Given the description of an element on the screen output the (x, y) to click on. 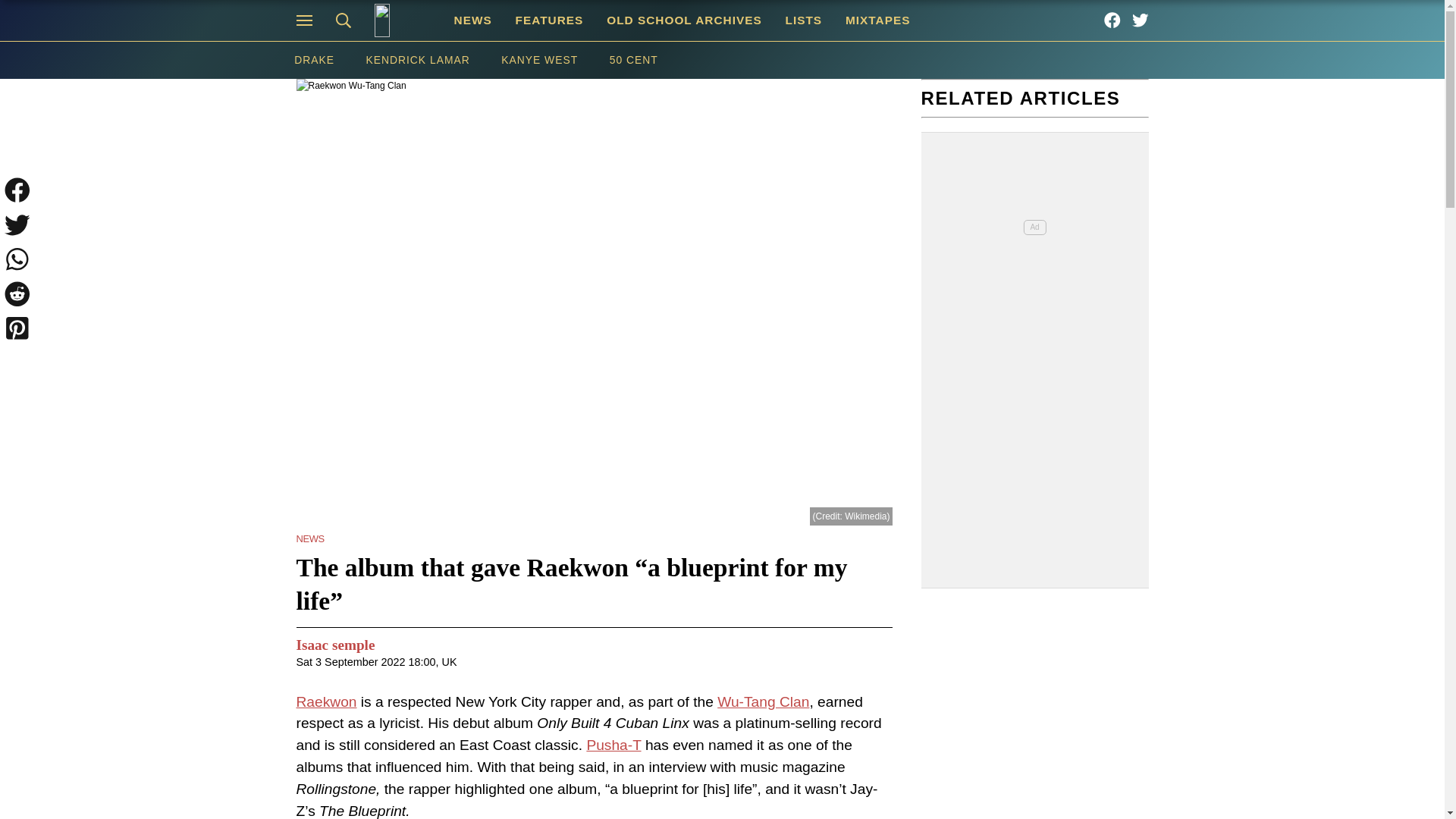
LISTS (802, 20)
Posts by Isaac semple (334, 645)
50 CENT (634, 59)
KANYE WEST (538, 59)
Isaac semple (334, 645)
OLD SCHOOL ARCHIVES (684, 20)
Hip Hop Hero on Twitter (1140, 20)
NEWS (472, 20)
Hip Hop Hero on Facebook (1112, 20)
NEWS (309, 538)
